Given the description of an element on the screen output the (x, y) to click on. 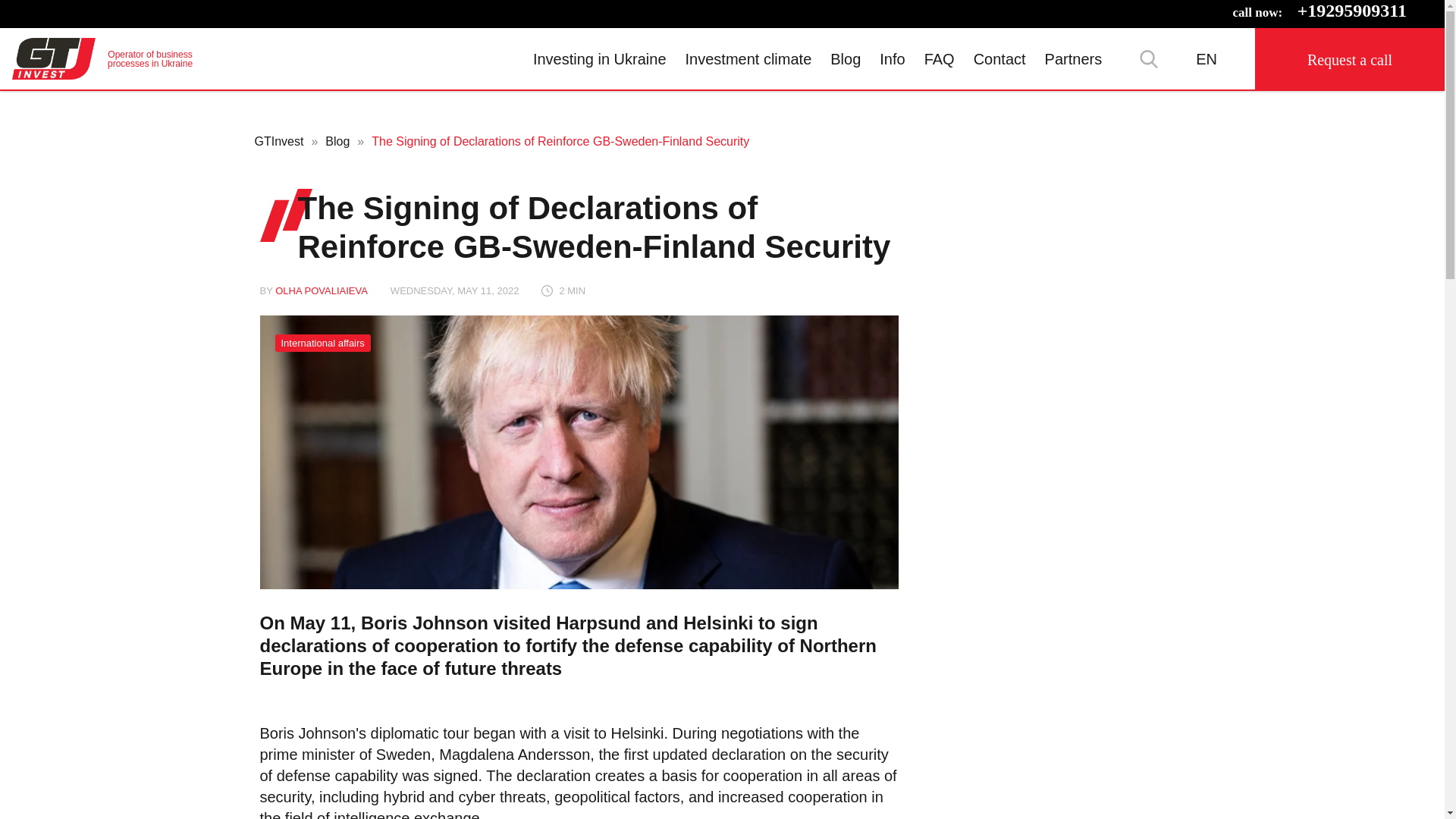
International affairs (322, 343)
Investing in Ukraine (101, 58)
GTInvest (599, 58)
